Given the description of an element on the screen output the (x, y) to click on. 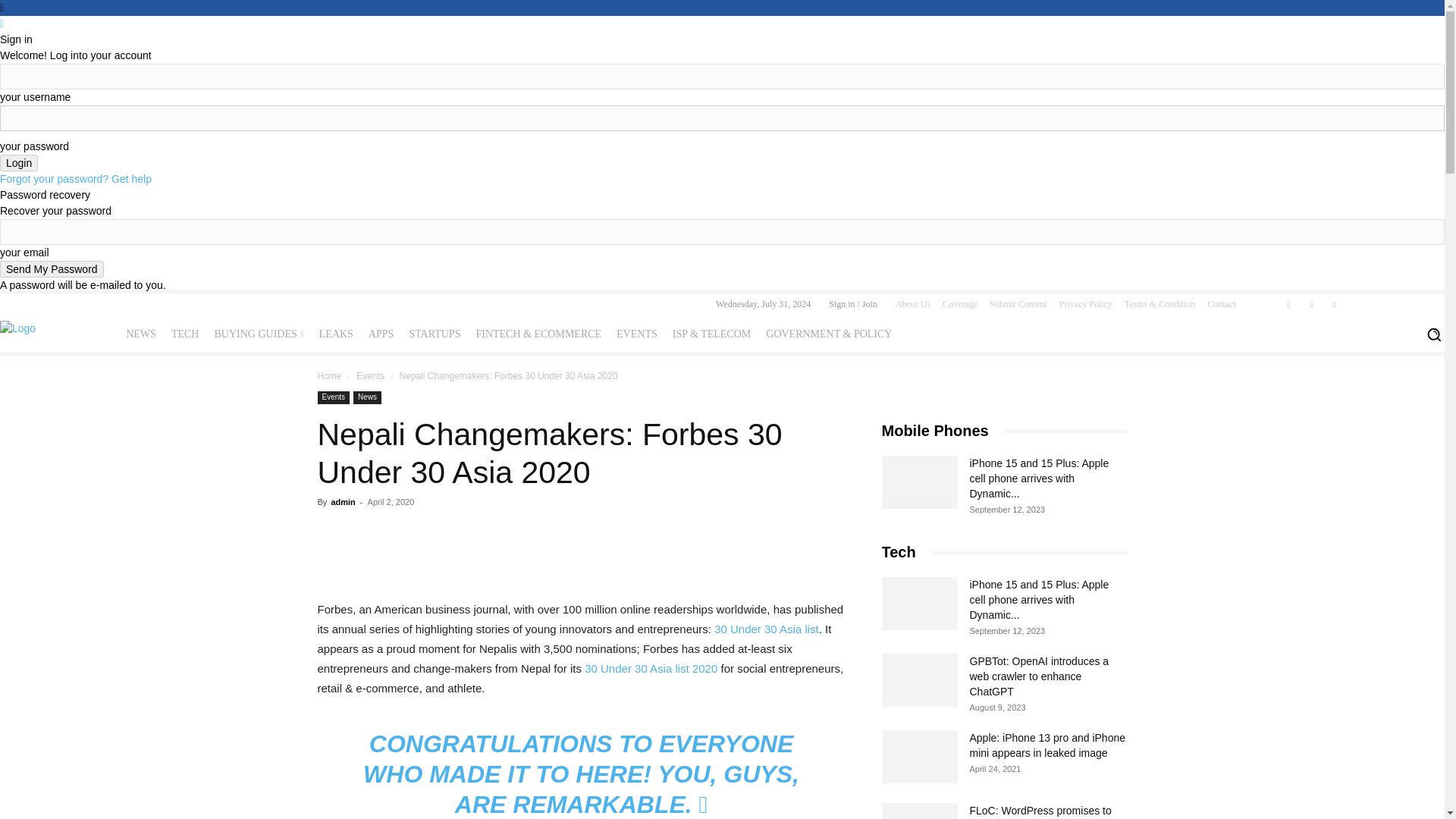
EVENTS (636, 334)
Twitter (1334, 304)
Instagram (1311, 304)
BUYING GUIDES (258, 334)
Forgot your password? Get help (75, 178)
About Us (912, 303)
Submit Content (1018, 303)
TECH (184, 334)
Privacy Policy (1085, 303)
NEWS (140, 334)
Facebook (1289, 304)
Login (18, 162)
LEAKS (336, 334)
Send My Password (51, 269)
APPS (381, 334)
